Given the description of an element on the screen output the (x, y) to click on. 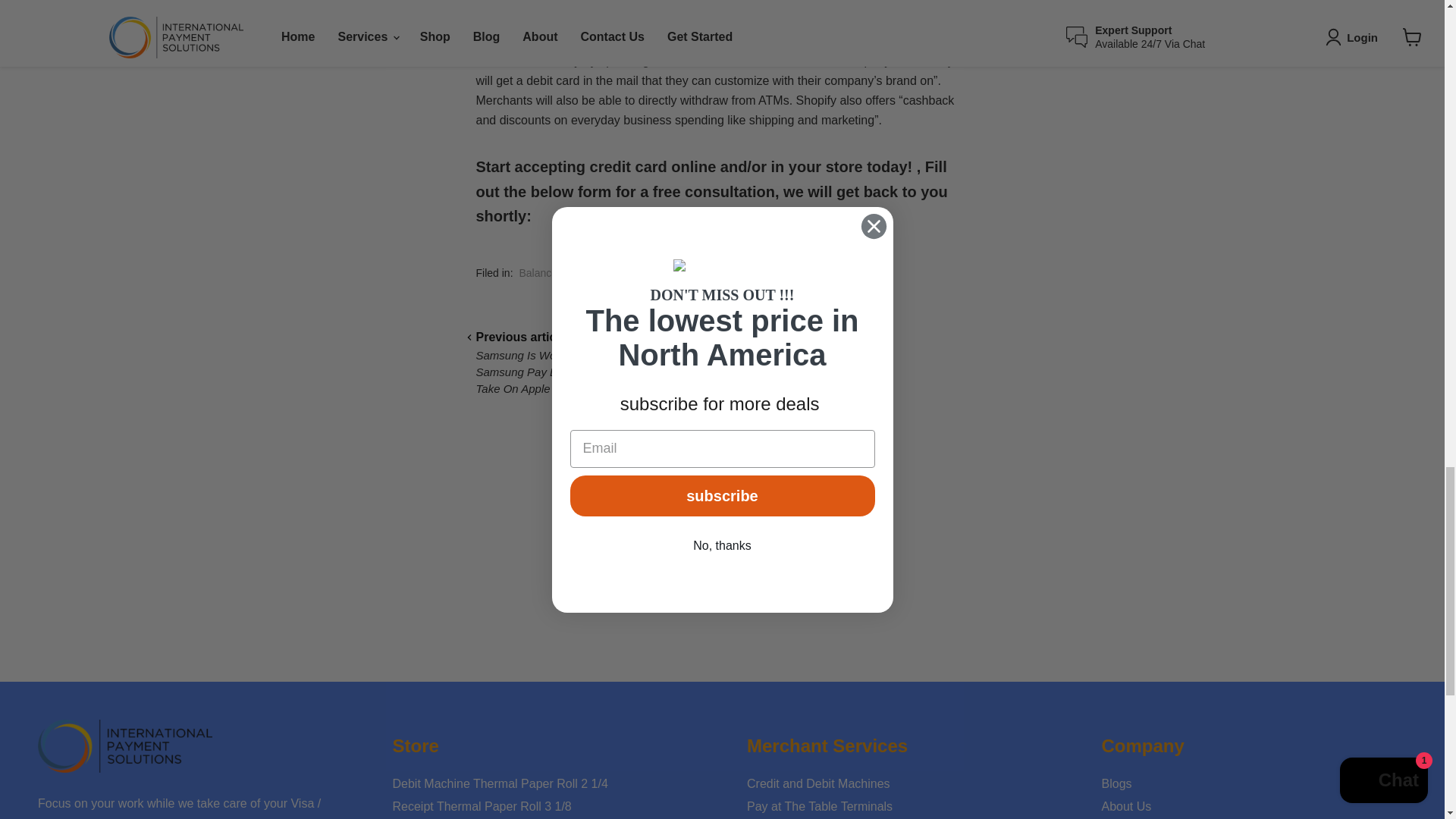
Show articles tagged COVID-19 (617, 272)
Show articles tagged Balance Card (550, 272)
Show articles tagged Shopify (809, 272)
Show articles tagged Instalment Plan (746, 272)
Show articles tagged Debit Card (674, 272)
